Given the description of an element on the screen output the (x, y) to click on. 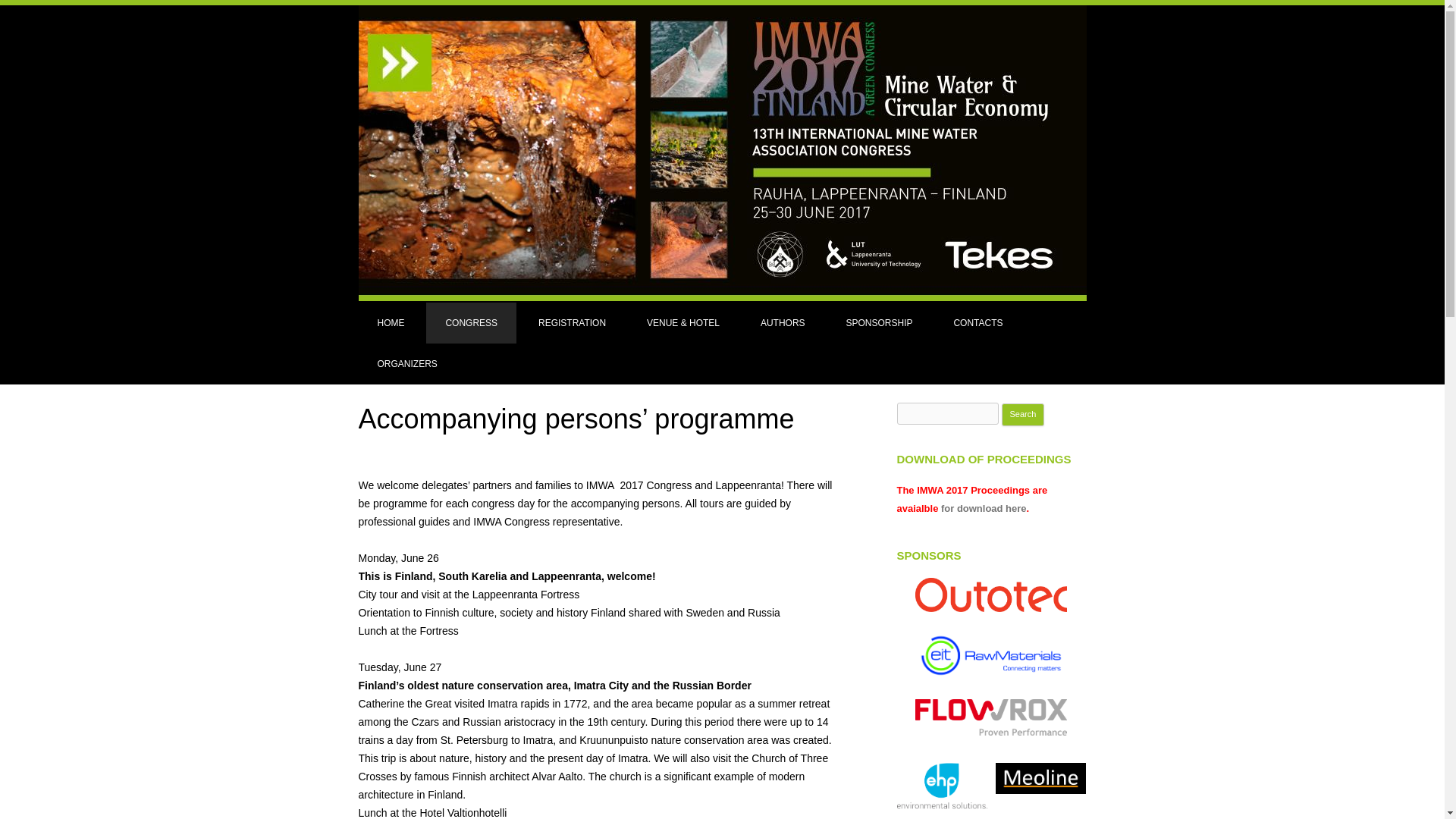
ORGANIZERS (406, 363)
Skip to content (757, 307)
AUTHORS (782, 322)
REGISTRATION (571, 322)
SPONSORSHIP (879, 322)
CONGRESS (471, 322)
Skip to content (757, 307)
CONTACTS (978, 322)
HOME (390, 322)
Search (1023, 414)
